Given the description of an element on the screen output the (x, y) to click on. 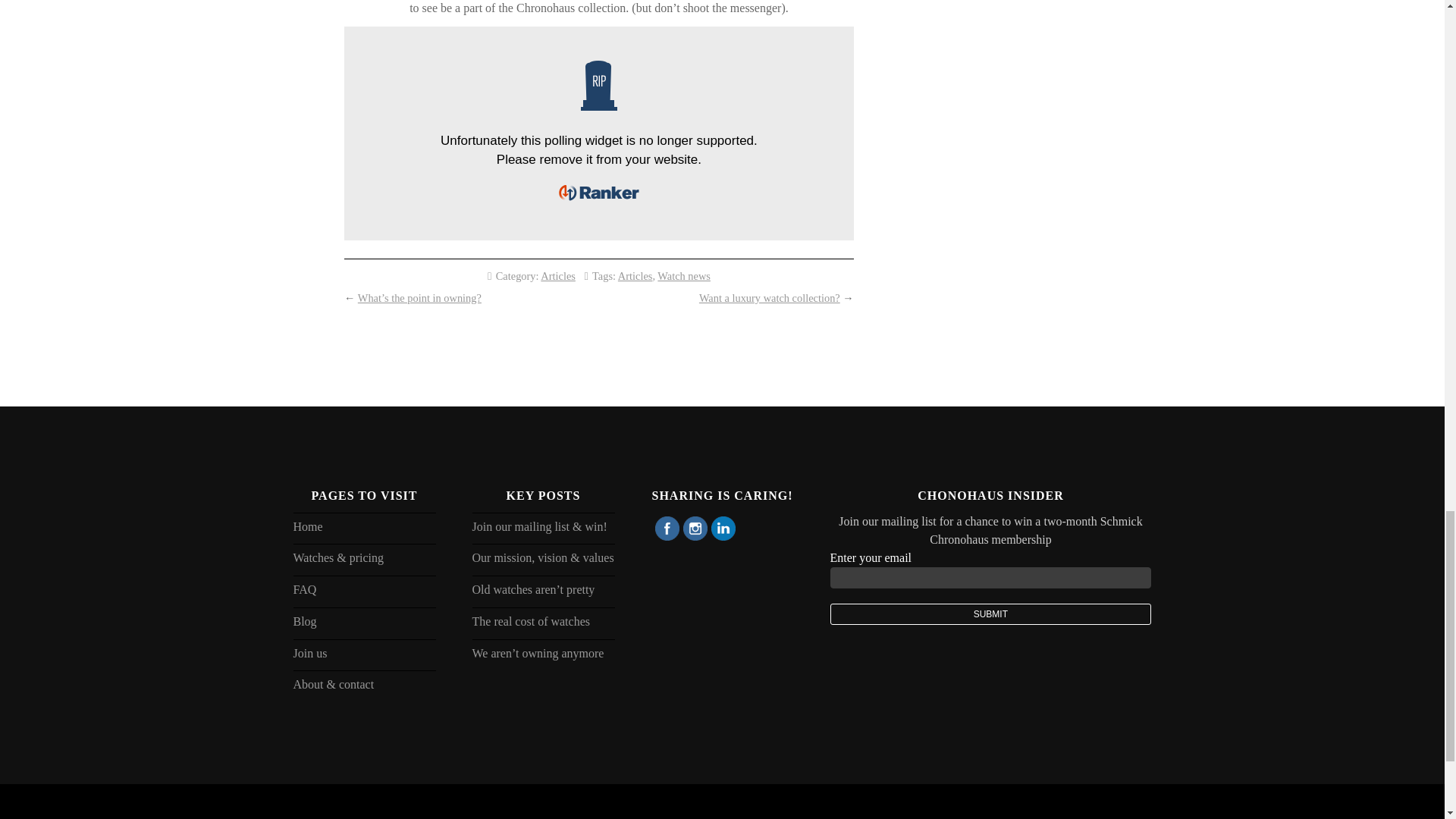
Articles (634, 275)
The real cost of watches (542, 623)
Home (363, 527)
Want a luxury watch collection? (769, 297)
Blog (363, 623)
SUBMIT (990, 613)
Articles (557, 275)
Watch news (684, 275)
FAQ (363, 591)
Instagram (694, 527)
